Given the description of an element on the screen output the (x, y) to click on. 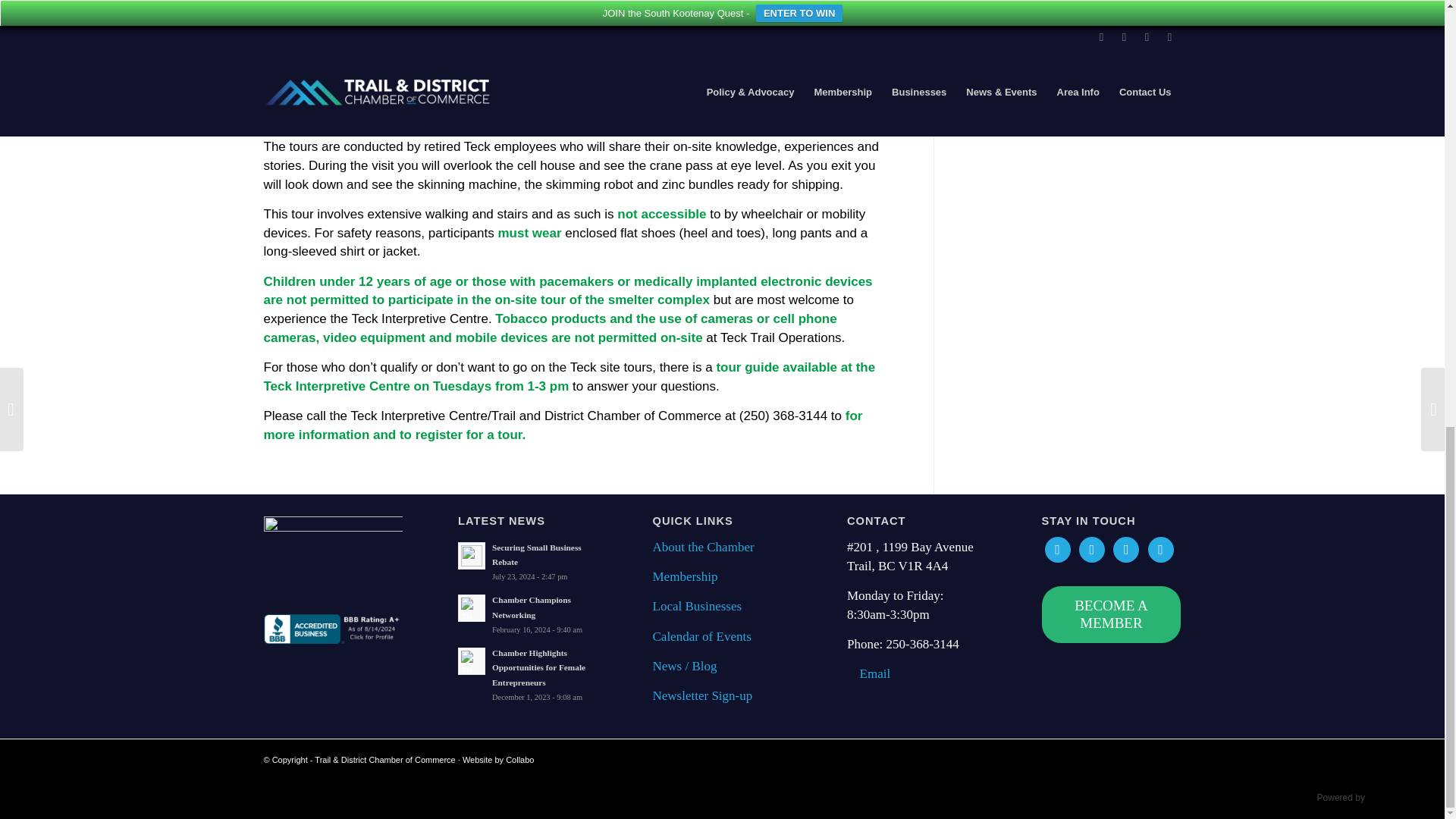
Chamber Champions Networking (527, 614)
Securing Small Business Rebate (527, 561)
Chamber Highlights Opportunities for Female Entrepreneurs (527, 674)
Facebook (1057, 548)
